Given the description of an element on the screen output the (x, y) to click on. 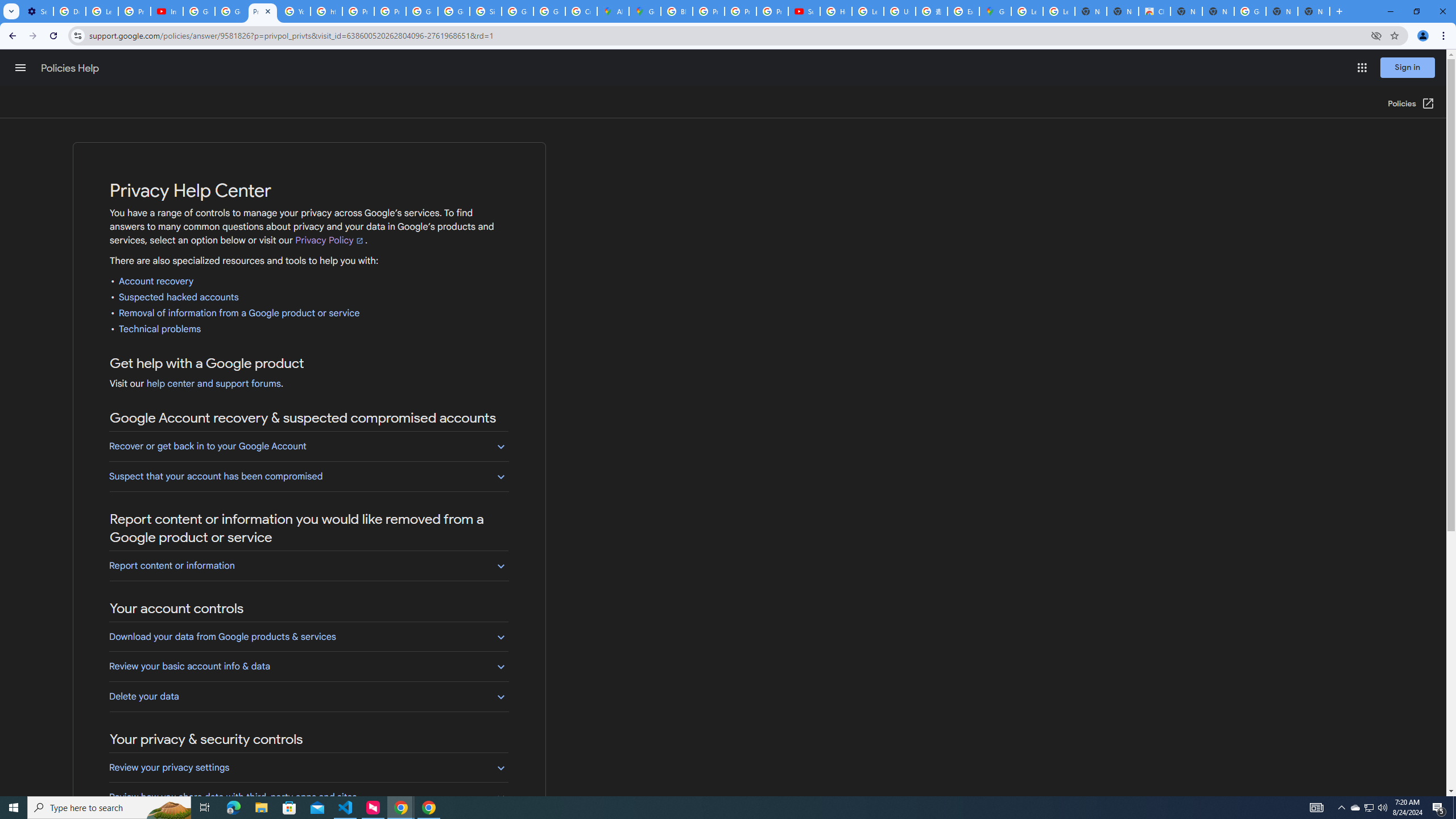
Chrome Web Store (1154, 11)
Google Account Help (230, 11)
Google Account Help (198, 11)
Google Images (1249, 11)
Account recovery (156, 281)
Google Maps (644, 11)
